Given the description of an element on the screen output the (x, y) to click on. 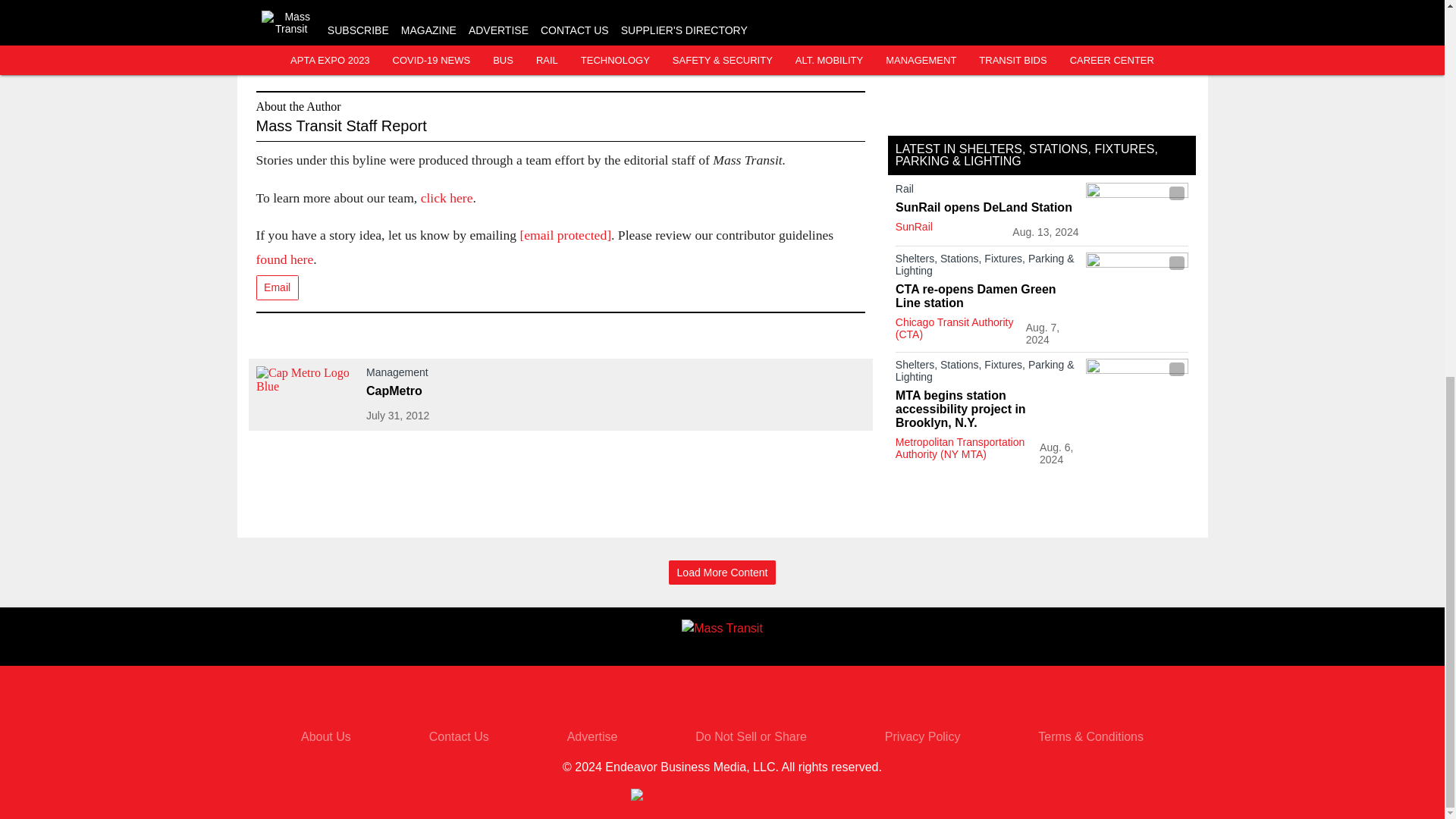
Email (277, 287)
Rail (986, 191)
SunRail (914, 226)
click here (446, 197)
Cap Metro Logo Blue (307, 394)
SunRail opens DeLand Station (986, 207)
CapMetro (459, 391)
found here (285, 258)
Management (459, 375)
